Given the description of an element on the screen output the (x, y) to click on. 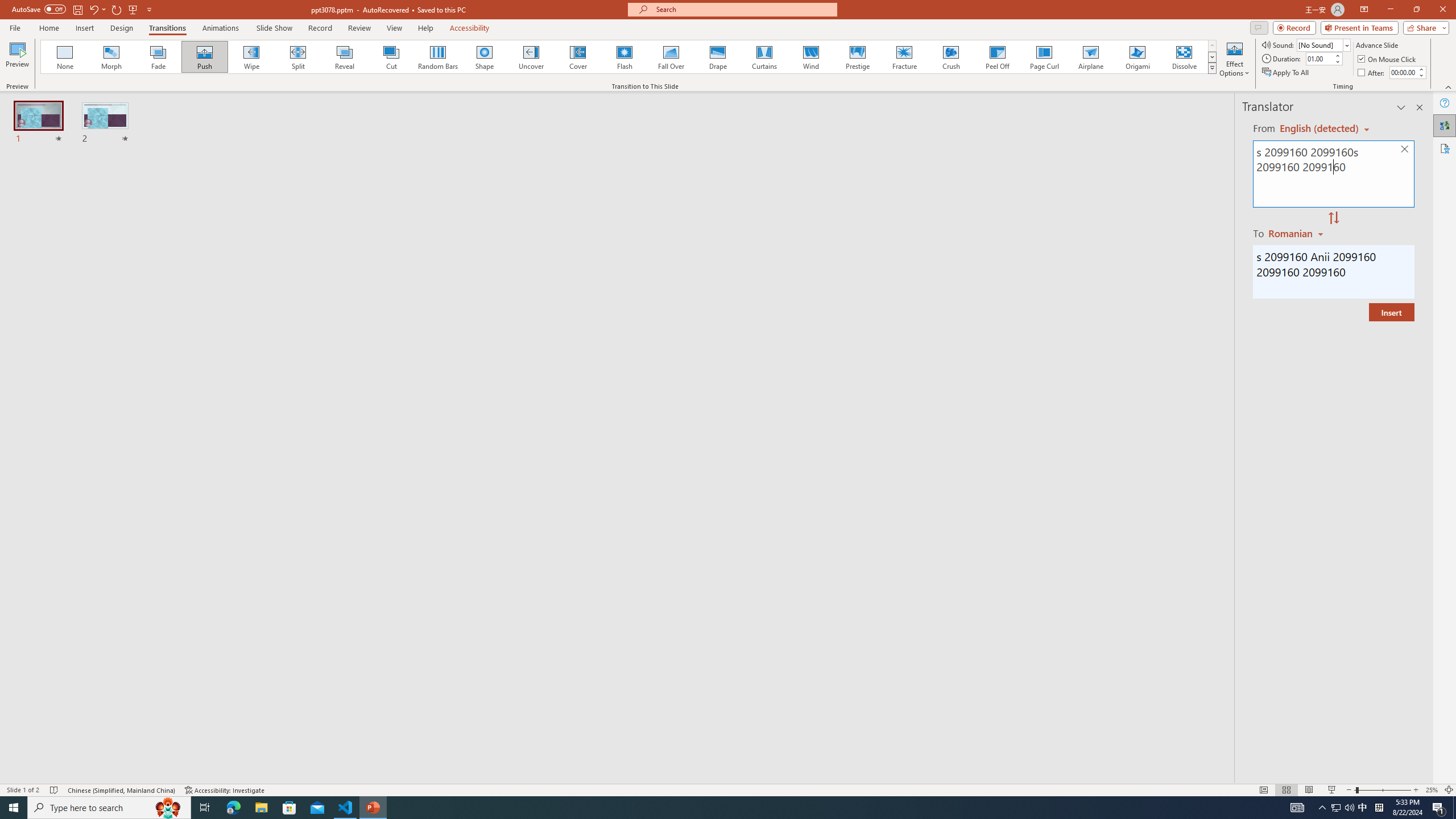
Prestige (857, 56)
Reveal (344, 56)
Uncover (531, 56)
Origami (1136, 56)
Transition Effects (1212, 67)
Flash (624, 56)
